Given the description of an element on the screen output the (x, y) to click on. 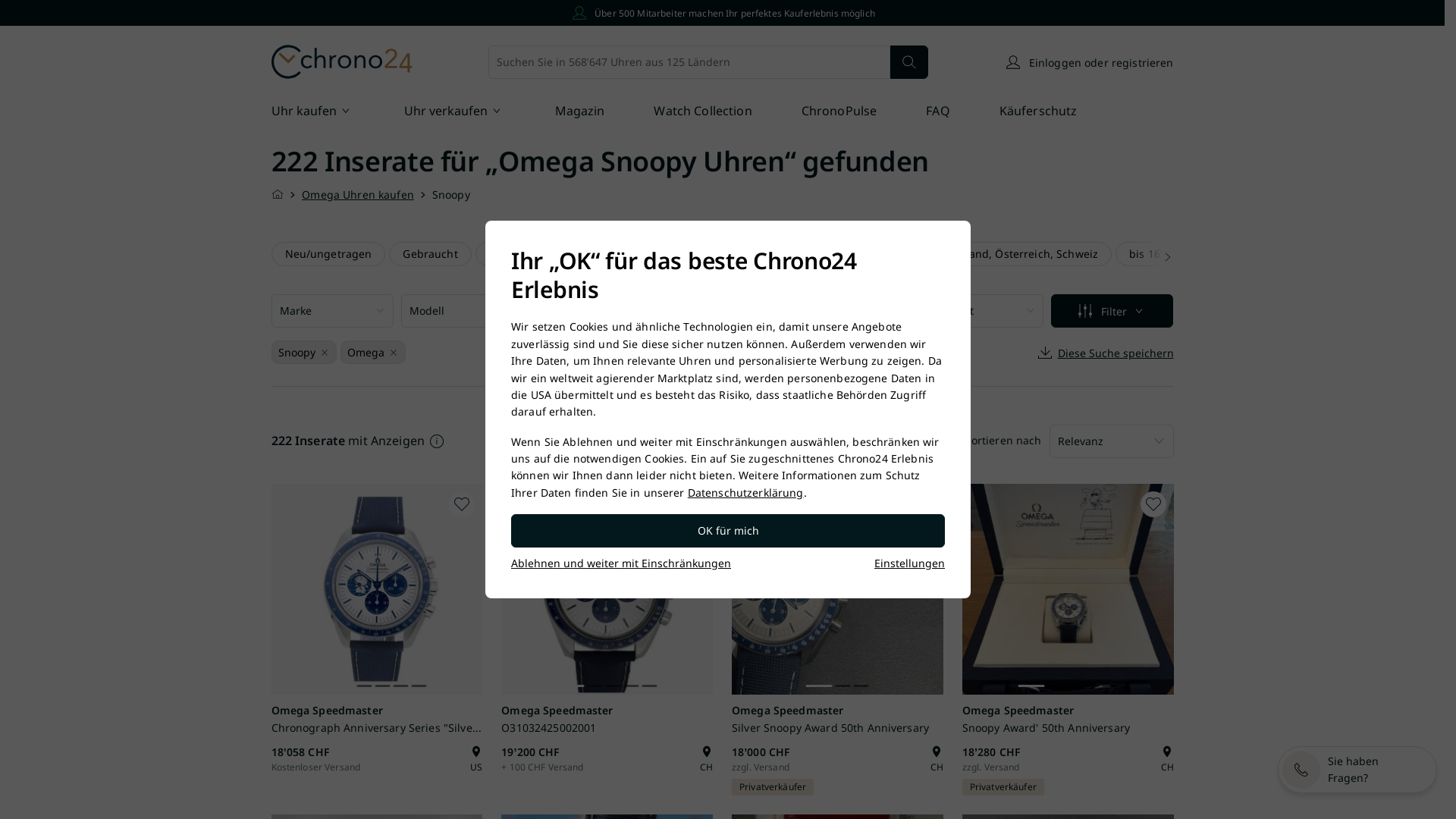
Snoopy Element type: text (295, 352)
US Element type: text (476, 758)
CH Element type: text (1166, 758)
Einloggen oder registrieren Element type: text (1088, 62)
Uhr verkaufen Element type: text (454, 111)
Omega Snoopy Uhren Element type: text (641, 160)
Marke Element type: text (332, 310)
FAQ Element type: text (937, 111)
Einstellungen Element type: text (909, 563)
ChronoPulse Element type: text (839, 111)
Omega Element type: text (363, 352)
Neu/ungetragen Element type: text (328, 253)
Uhr kaufen Element type: text (312, 111)
Europa Element type: text (744, 253)
CH Element type: text (936, 758)
Gebraucht Element type: text (429, 253)
Magazin Element type: text (580, 111)
CH Element type: text (705, 758)
Diese Suche speichern Element type: text (1104, 352)
Filter Element type: text (1112, 310)
Durchmesser Element type: text (722, 310)
Modell Element type: text (462, 310)
Omega Uhren kaufen Element type: text (357, 194)
Watch Collection Element type: text (702, 111)
Artikel auf Lager Element type: text (531, 253)
Standort Element type: text (982, 310)
Jahr Element type: text (851, 310)
Preis Element type: text (591, 310)
Sie haben Fragen? Element type: text (1357, 769)
